Given the description of an element on the screen output the (x, y) to click on. 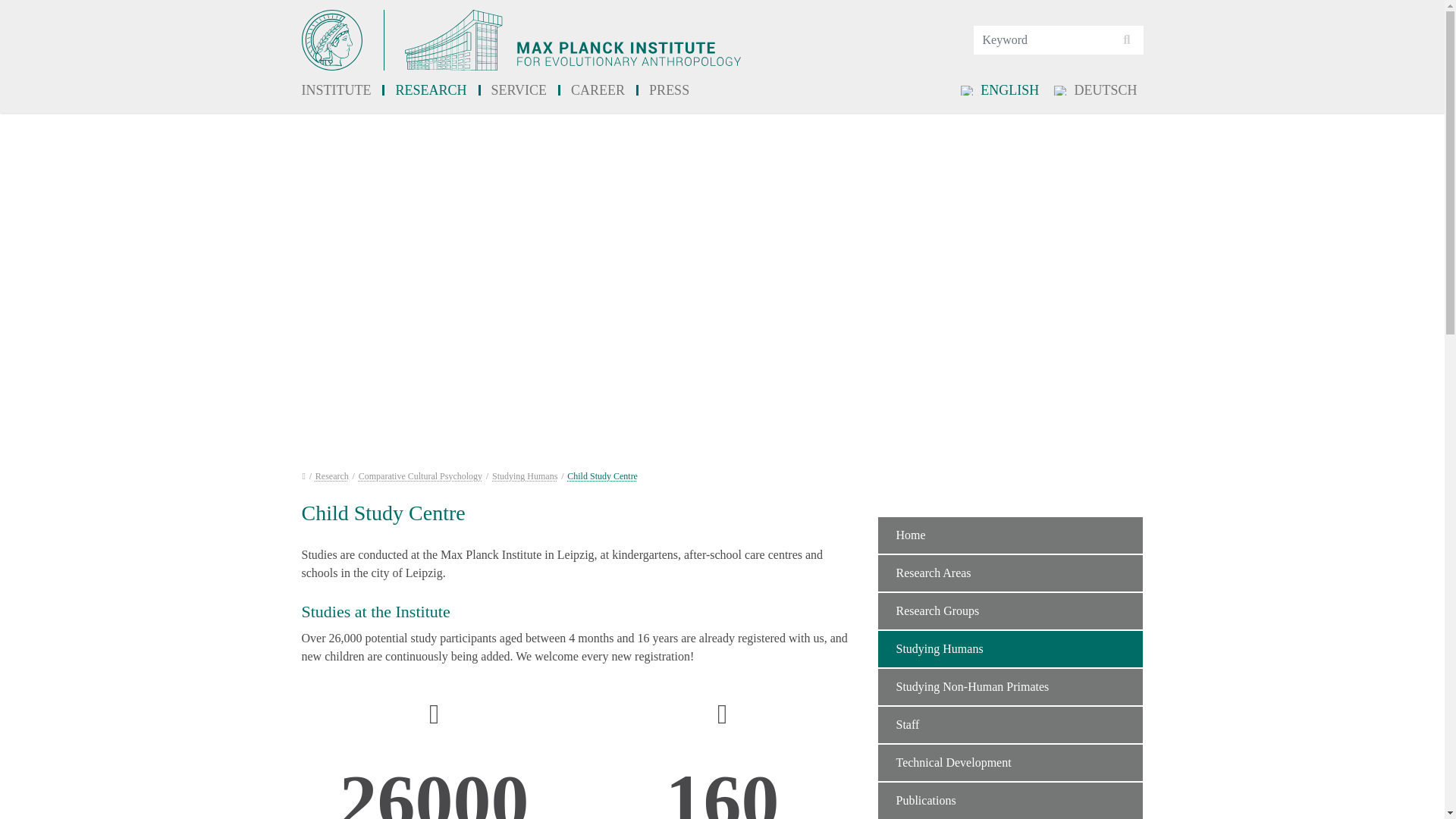
PRESS (669, 90)
CAREER (598, 90)
SERVICE (519, 90)
RESEARCH (430, 90)
INSTITUTE (342, 90)
